Given the description of an element on the screen output the (x, y) to click on. 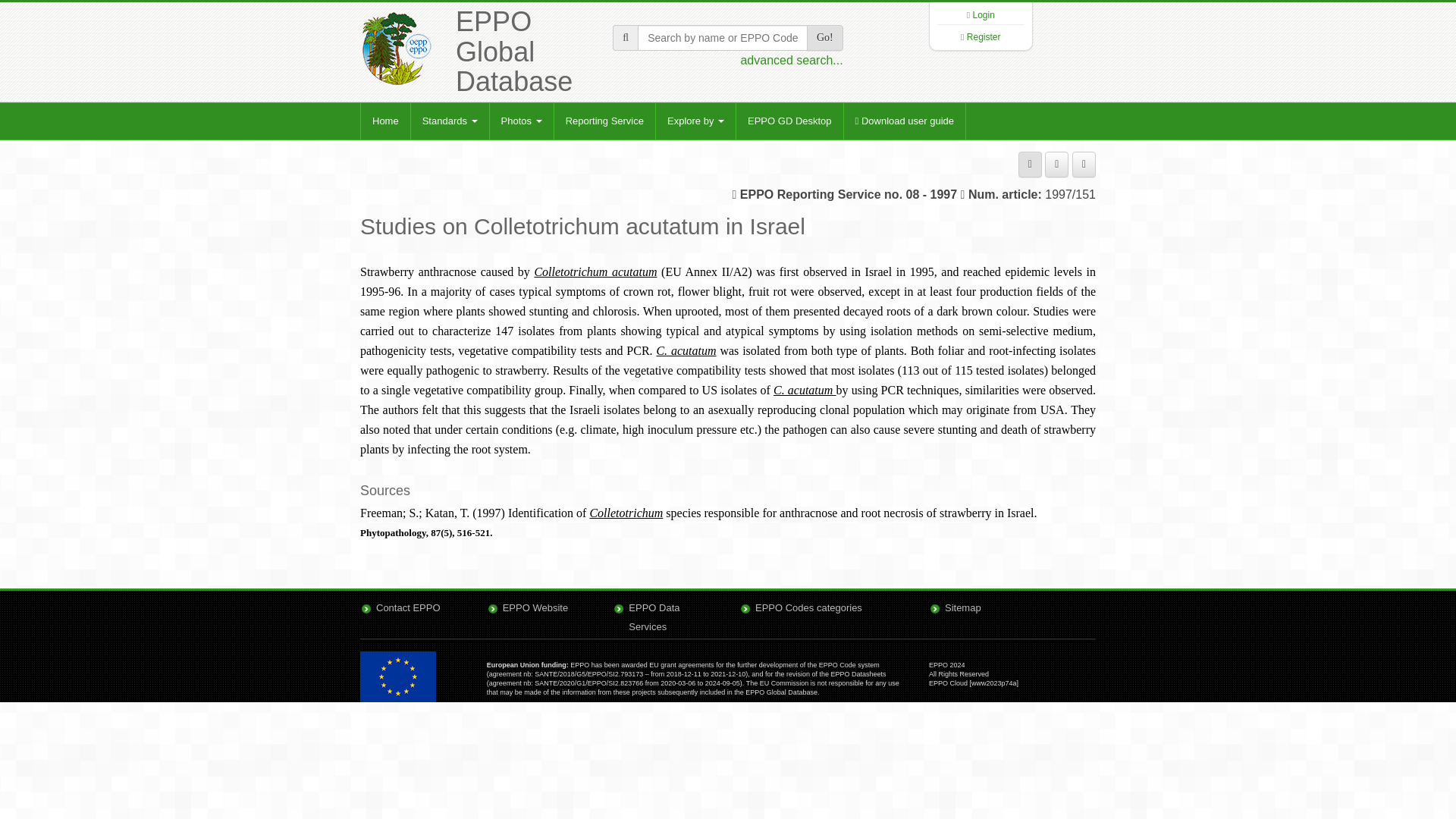
Go! (824, 37)
advanced search... (791, 60)
Share on twitter (1083, 164)
Login (983, 14)
EPPO GD Desktop (789, 121)
Print (1029, 164)
Home (384, 121)
Standards (449, 121)
Photos (521, 121)
Register (983, 36)
